Given the description of an element on the screen output the (x, y) to click on. 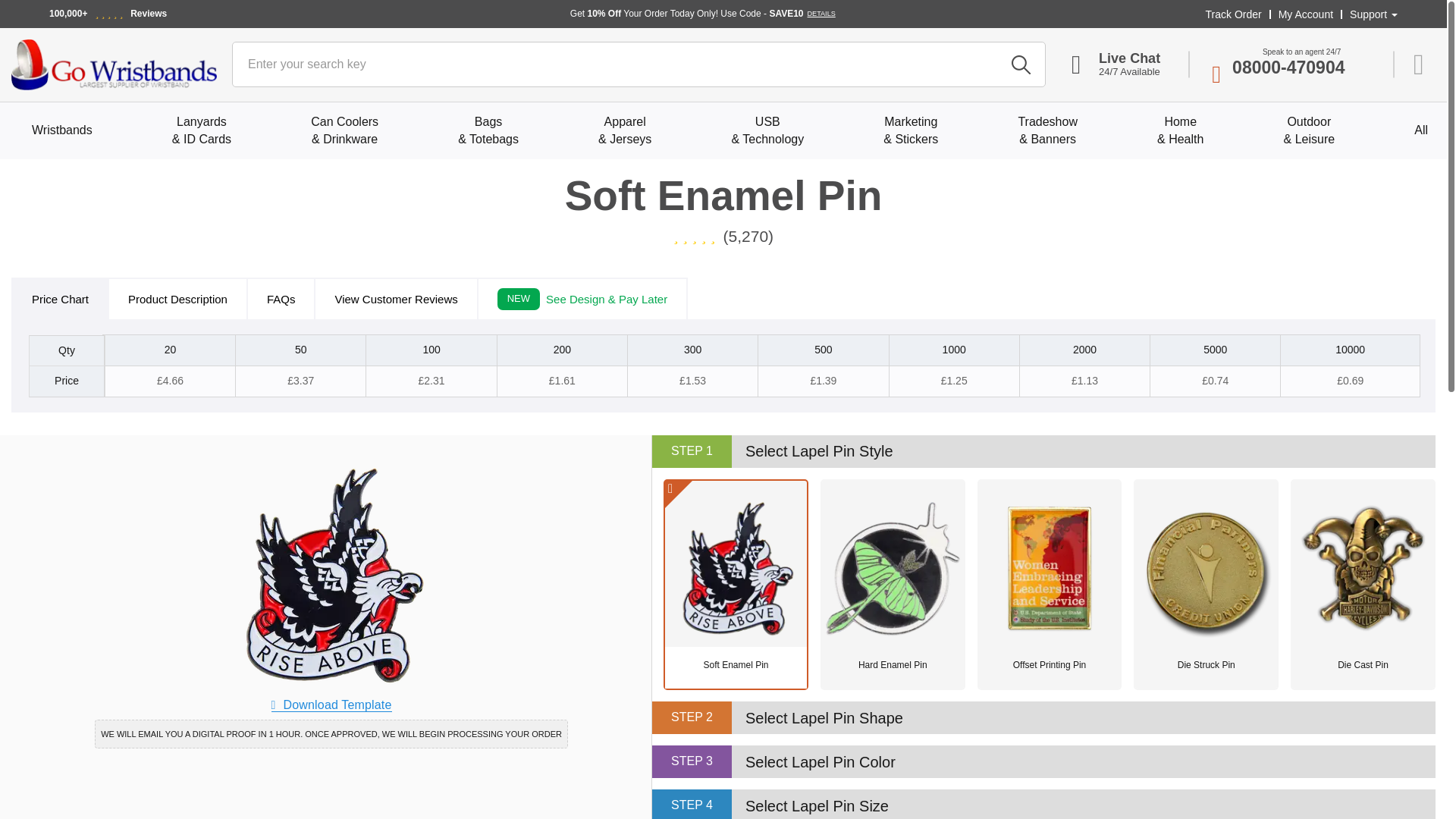
DETAILS (821, 13)
Track Order (1233, 13)
Wristbands (62, 130)
Search (1020, 64)
Support (1373, 13)
08000-470904 (1291, 70)
My Account (1305, 13)
